Given the description of an element on the screen output the (x, y) to click on. 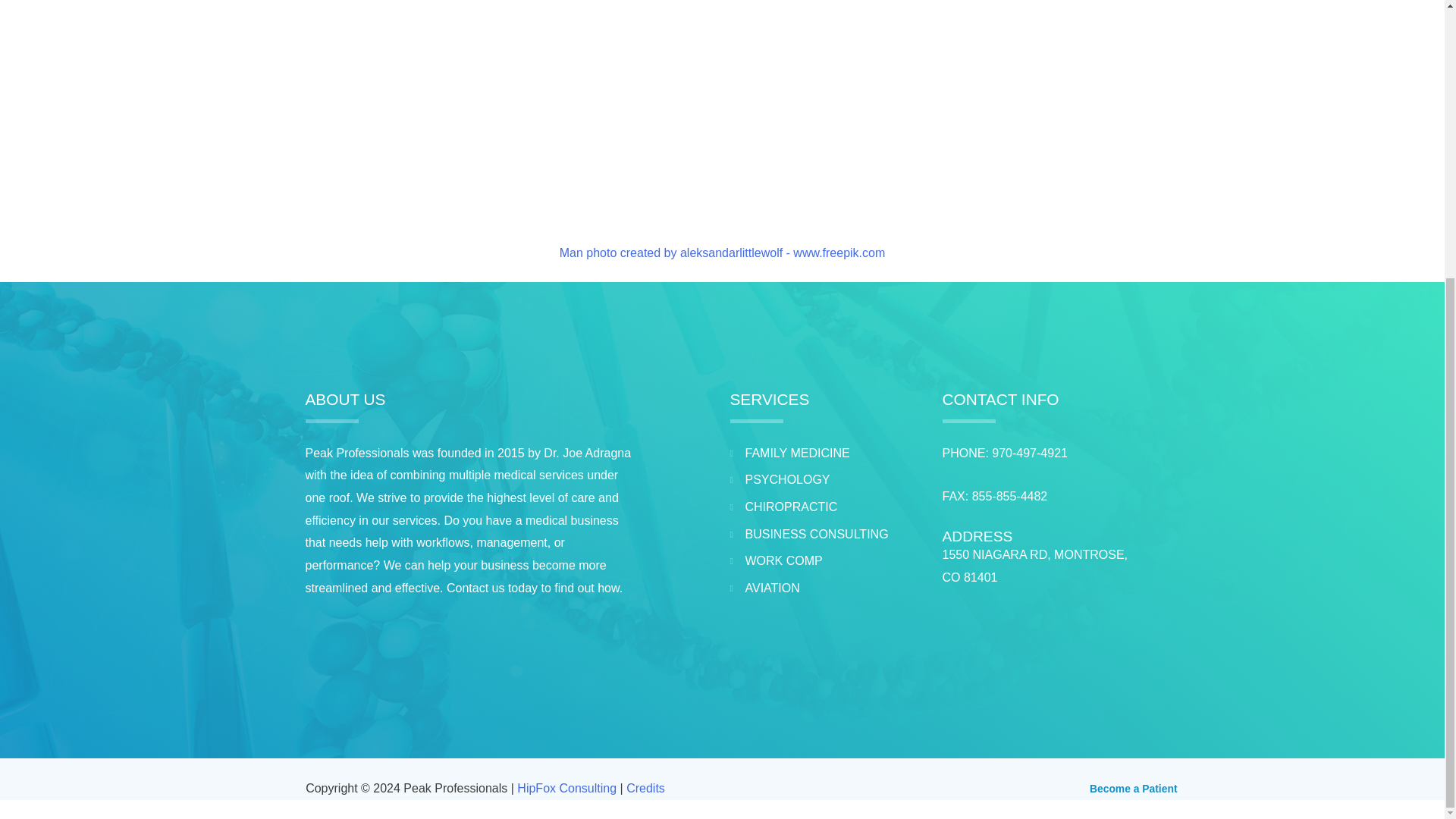
FAMILY MEDICINE (827, 453)
PSYCHOLOGY (827, 479)
HipFox Consulting (565, 788)
AVIATION (827, 588)
CHIROPRACTIC (827, 507)
Man photo created by aleksandarlittlewolf - www.freepik.com (722, 252)
Credits (645, 788)
BUSINESS CONSULTING (827, 534)
WORK COMP (827, 560)
